Given the description of an element on the screen output the (x, y) to click on. 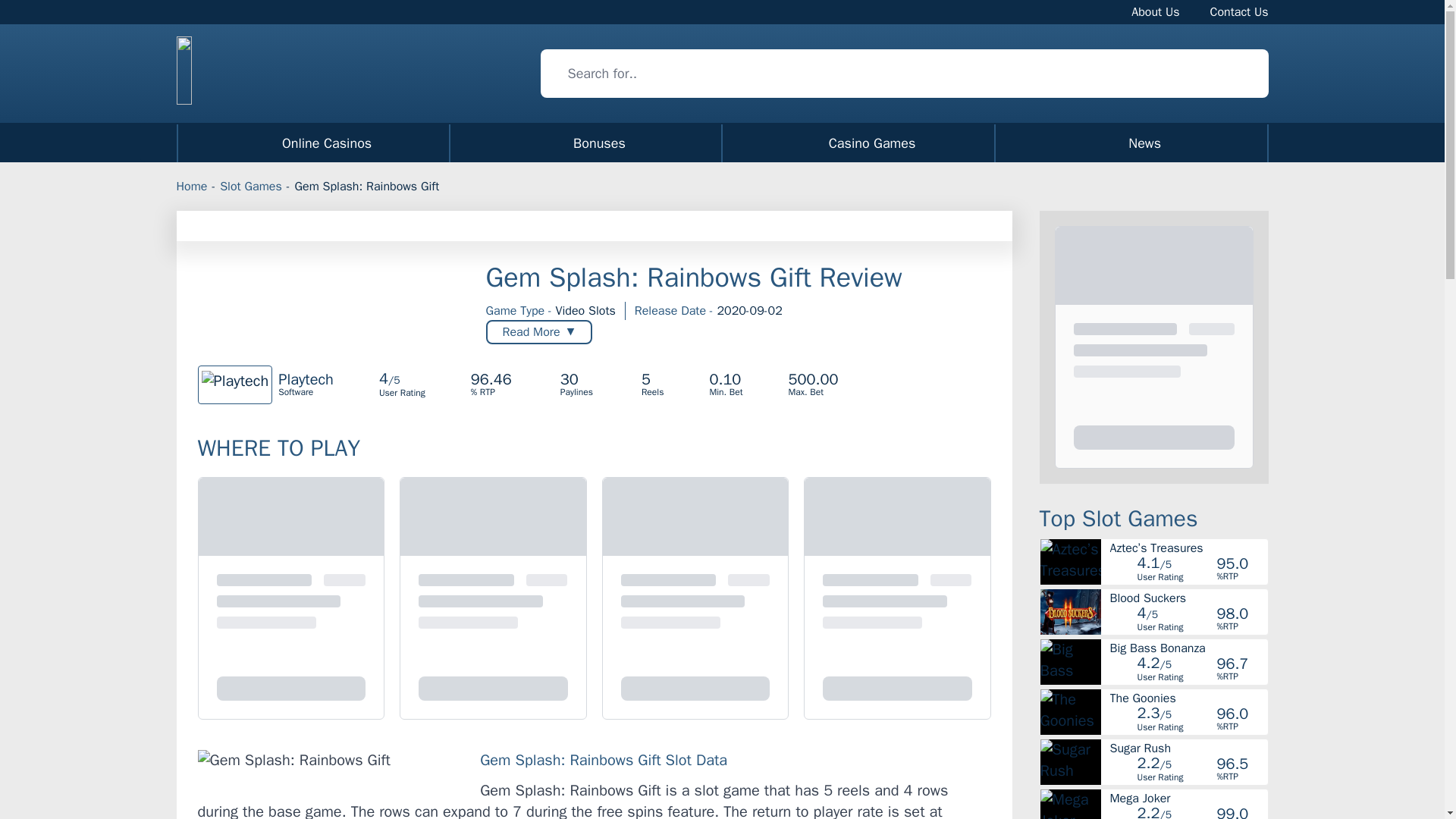
Blood Suckers (1187, 598)
Contact Us (1238, 11)
Sugar Rush (1187, 748)
Big Bass Bonanza (721, 142)
About Us (1187, 648)
The Goonies (1155, 11)
Mega Joker (1187, 698)
